Given the description of an element on the screen output the (x, y) to click on. 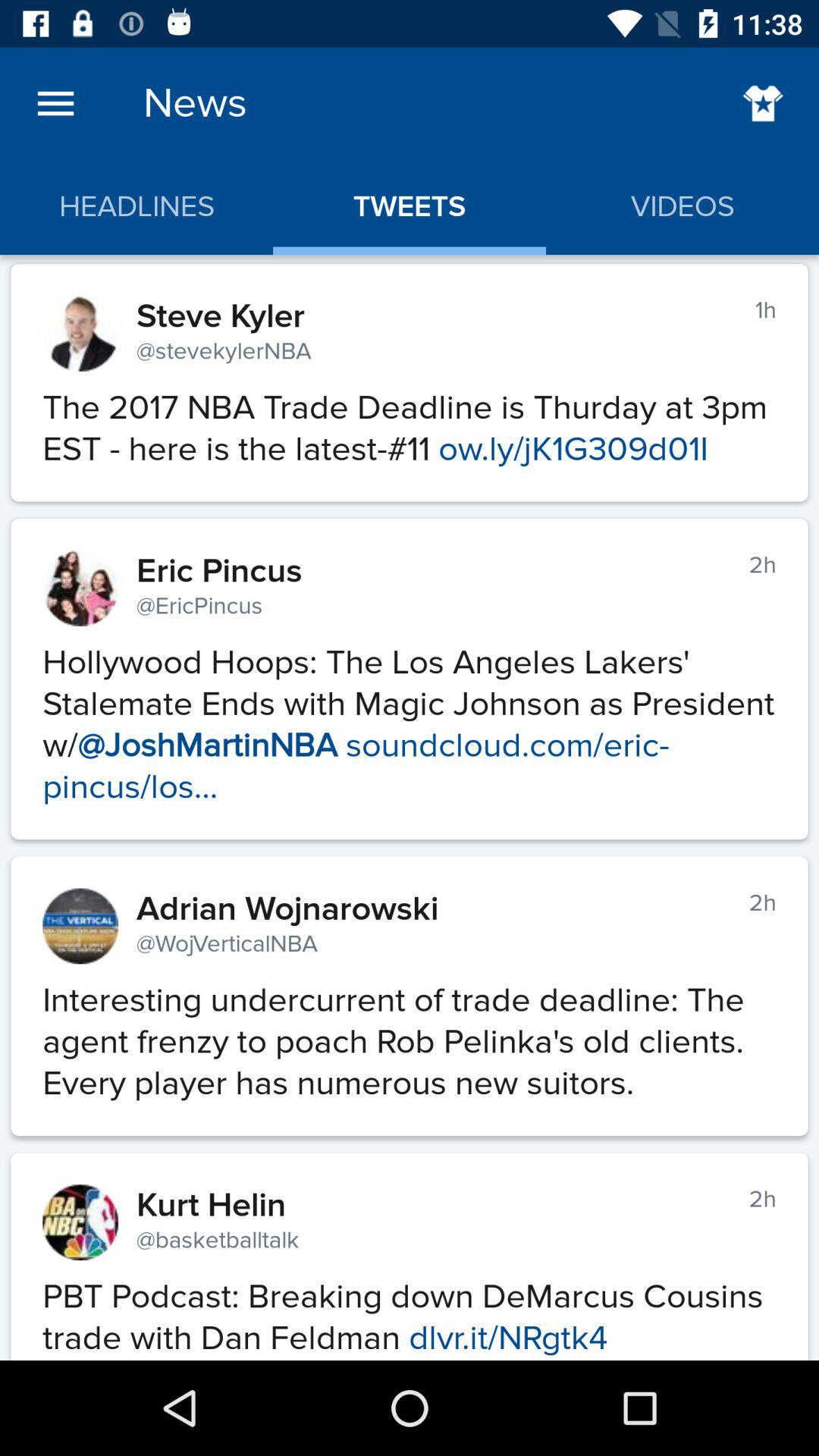
tap the videos item (682, 206)
